Given the description of an element on the screen output the (x, y) to click on. 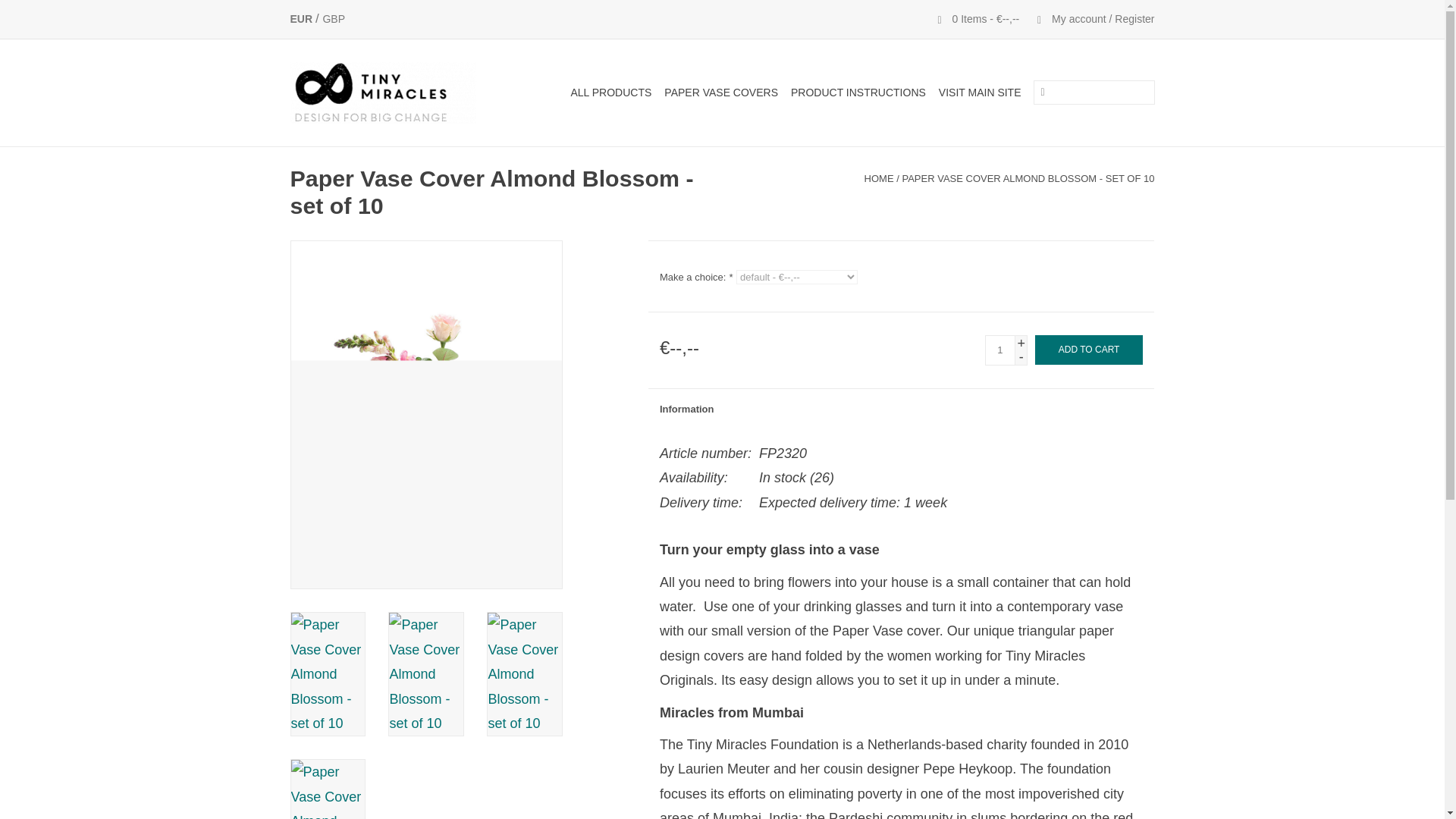
Product Instructions (858, 92)
ALL PRODUCTS (611, 92)
PRODUCT INSTRUCTIONS (858, 92)
PAPER VASE COVER ALMOND BLOSSOM - SET OF 10 (1027, 178)
My account (1088, 19)
Cart (973, 19)
gbp (333, 19)
GBP (333, 19)
All Products (611, 92)
VISIT MAIN SITE (980, 92)
PAPER VASE COVERS (721, 92)
Search (1041, 93)
- (1020, 356)
1 (999, 349)
eur (301, 19)
